Given the description of an element on the screen output the (x, y) to click on. 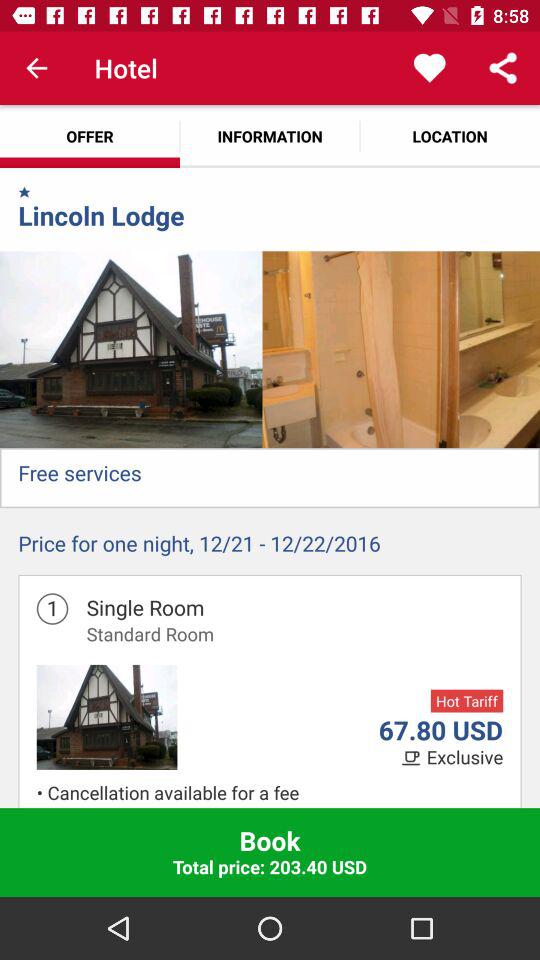
click on second image below lincoln lodge (360, 349)
select the icon which is left to the text exclusive (414, 757)
select the location option (450, 136)
go to information (269, 136)
